Given the description of an element on the screen output the (x, y) to click on. 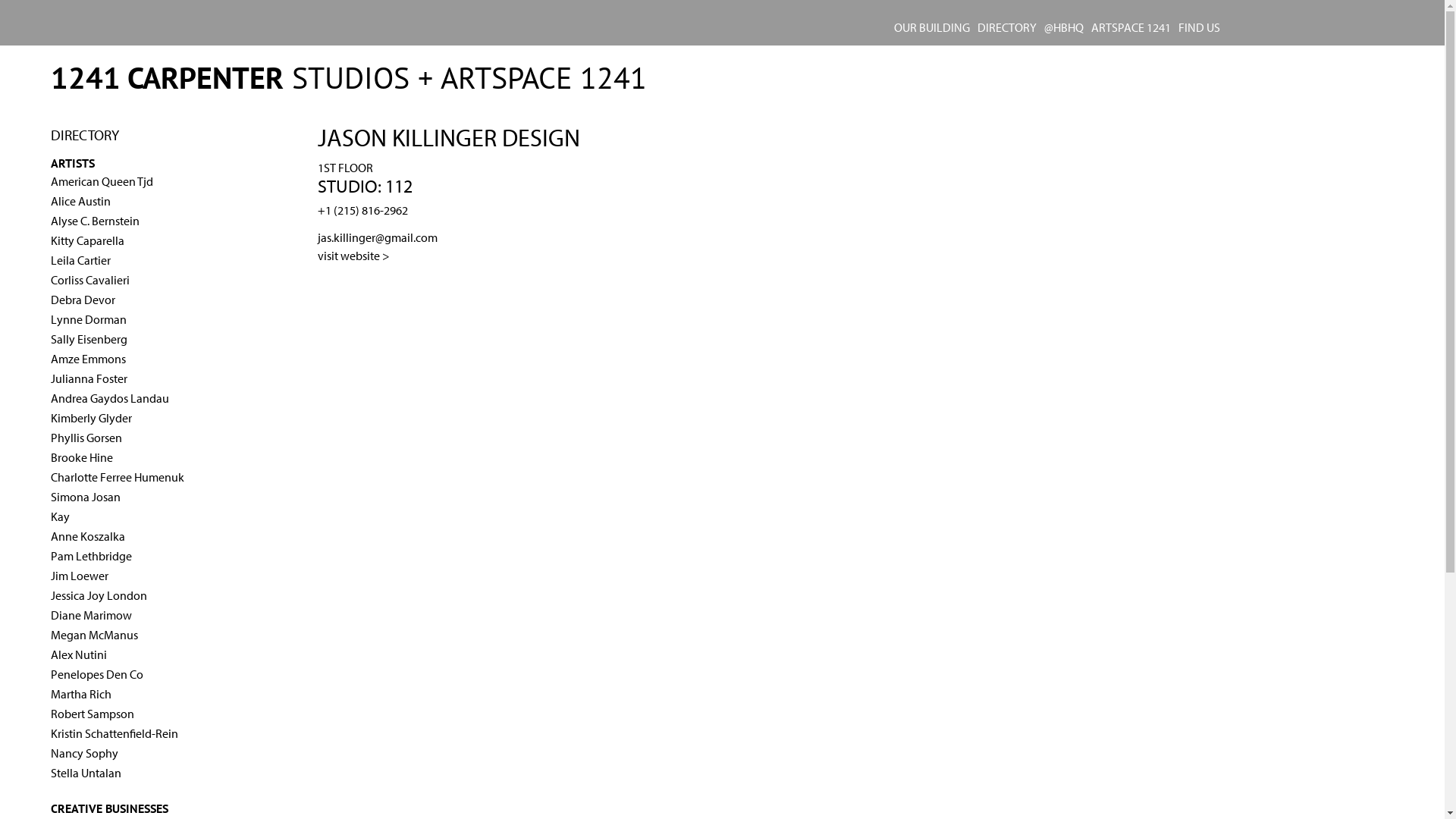
Julianna Foster Element type: text (88, 377)
Amze Emmons Element type: text (87, 358)
Charlotte Ferree Humenuk Element type: text (117, 476)
Kimberly Glyder Element type: text (90, 417)
ARTSPACE 1241 Element type: text (1130, 26)
jas.killinger@gmail.com Element type: text (377, 236)
Phyllis Gorsen Element type: text (86, 437)
1241 CARPENTER STUDIOS + ARTSPACE 1241 Element type: text (348, 77)
Nancy Sophy Element type: text (84, 752)
Leila Cartier Element type: text (80, 259)
Andrea Gaydos Landau Element type: text (109, 397)
DIRECTORY Element type: text (1006, 26)
Brooke Hine Element type: text (81, 456)
Simona Josan Element type: text (85, 496)
Sally Eisenberg Element type: text (88, 338)
OUR BUILDING Element type: text (931, 26)
@HBHQ Element type: text (1063, 26)
Alex Nutini Element type: text (78, 654)
Anne Koszalka Element type: text (87, 535)
Corliss Cavalieri Element type: text (89, 279)
Diane Marimow Element type: text (90, 614)
Alice Austin Element type: text (80, 200)
Robert Sampson Element type: text (92, 713)
American Queen Tjd Element type: text (101, 180)
Jim Loewer Element type: text (79, 575)
Kitty Caparella Element type: text (87, 239)
Alyse C. Bernstein Element type: text (94, 220)
Debra Devor Element type: text (82, 299)
Lynne Dorman Element type: text (88, 318)
Jump to navigation Element type: text (722, 62)
Megan McManus Element type: text (94, 634)
Stella Untalan Element type: text (85, 772)
Jessica Joy London Element type: text (98, 594)
Martha Rich Element type: text (80, 693)
visit website > Element type: text (353, 255)
Kristin Schattenfield-Rein Element type: text (114, 732)
FIND US Element type: text (1199, 26)
Kay Element type: text (59, 516)
Penelopes Den Co Element type: text (96, 673)
  Element type: text (318, 296)
Pam Lethbridge Element type: text (90, 555)
